Given the description of an element on the screen output the (x, y) to click on. 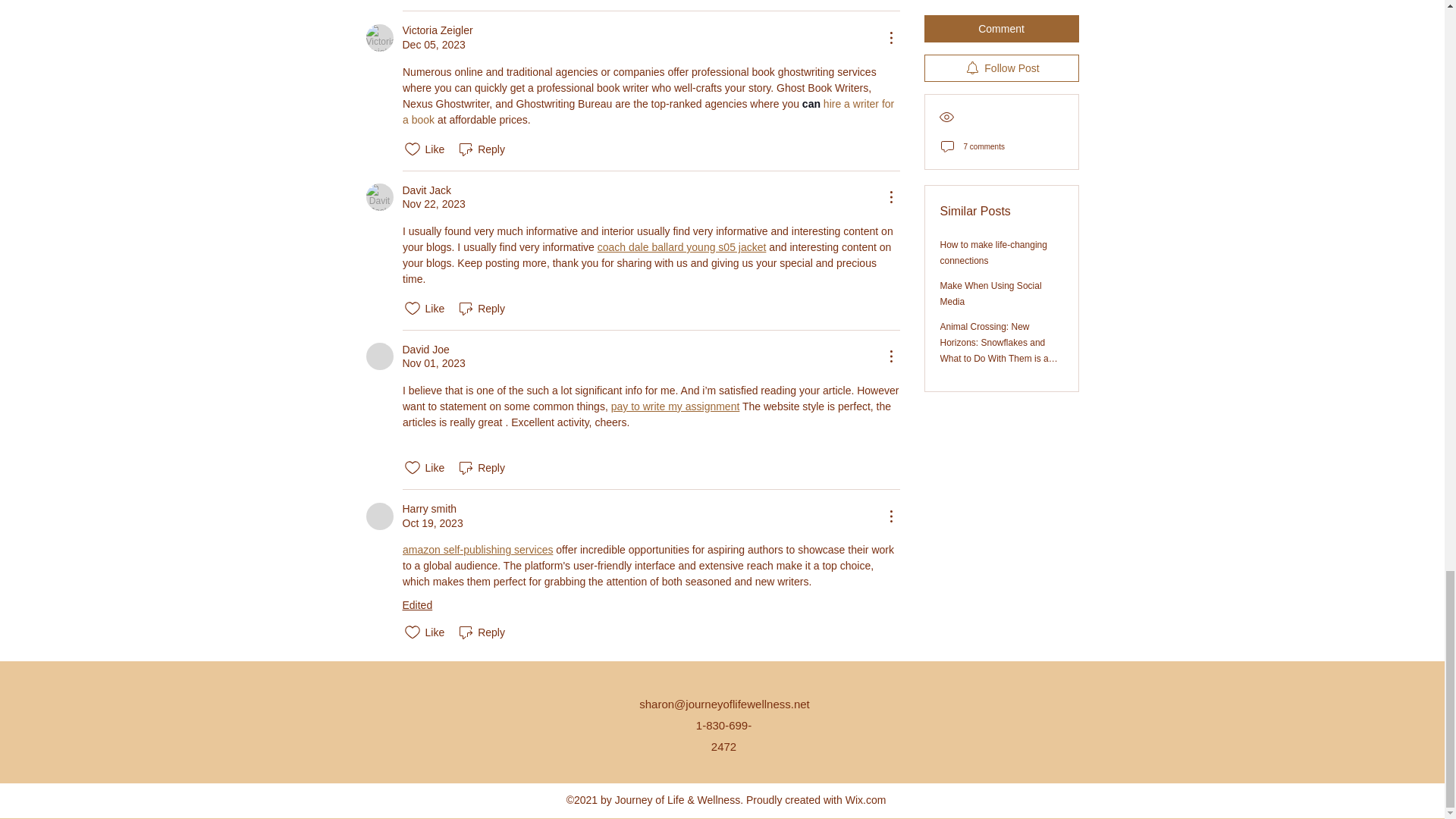
Harry smith (379, 515)
Victoria Zeigler (379, 37)
Davit Jack (379, 196)
Victoria Zeigler (436, 30)
David Joe (379, 356)
